Given the description of an element on the screen output the (x, y) to click on. 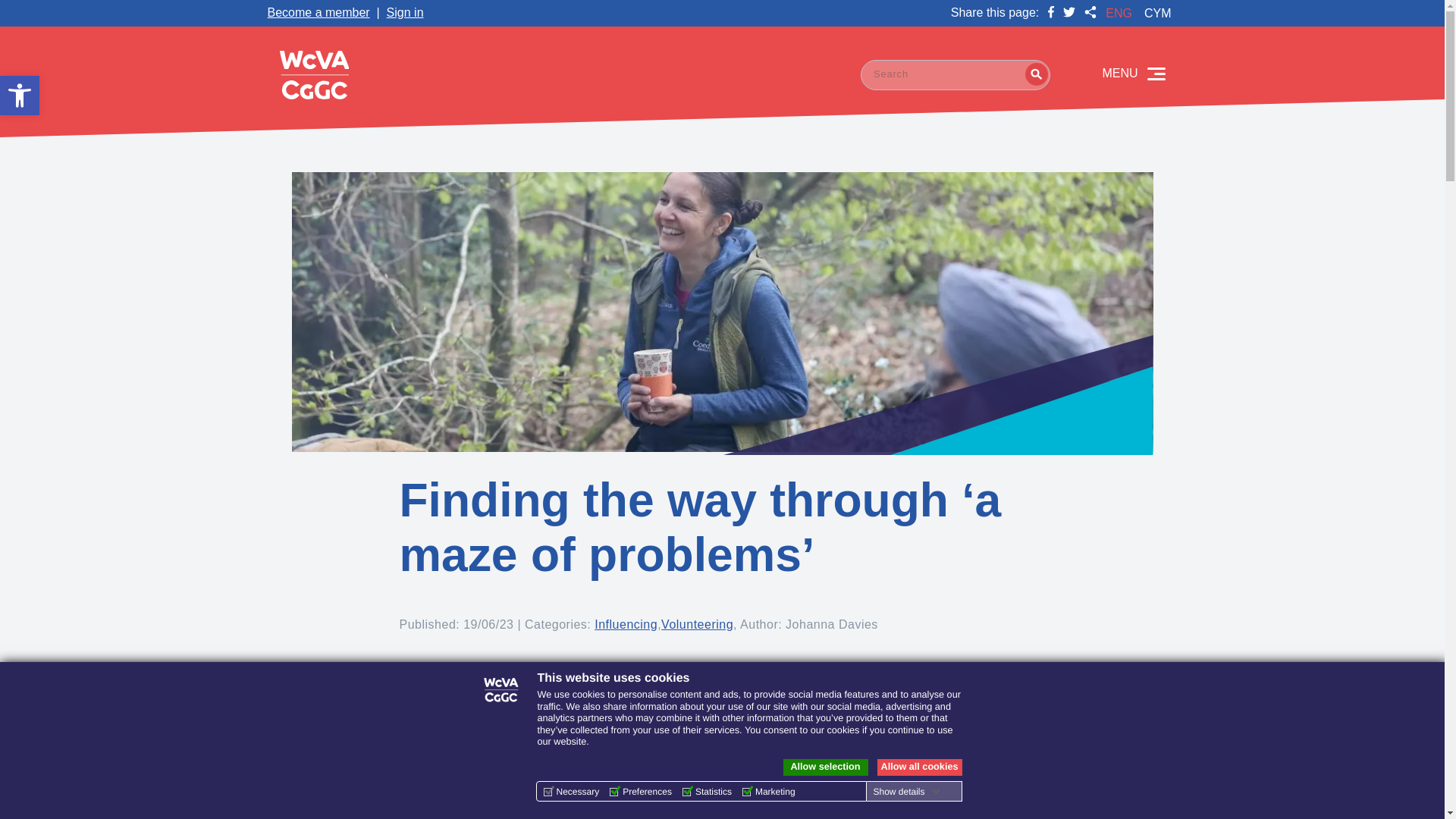
Show details (905, 791)
Allow all cookies (918, 767)
Allow selection (19, 95)
Accessibility Tools (825, 767)
Accessibility Tools (19, 95)
